Given the description of an element on the screen output the (x, y) to click on. 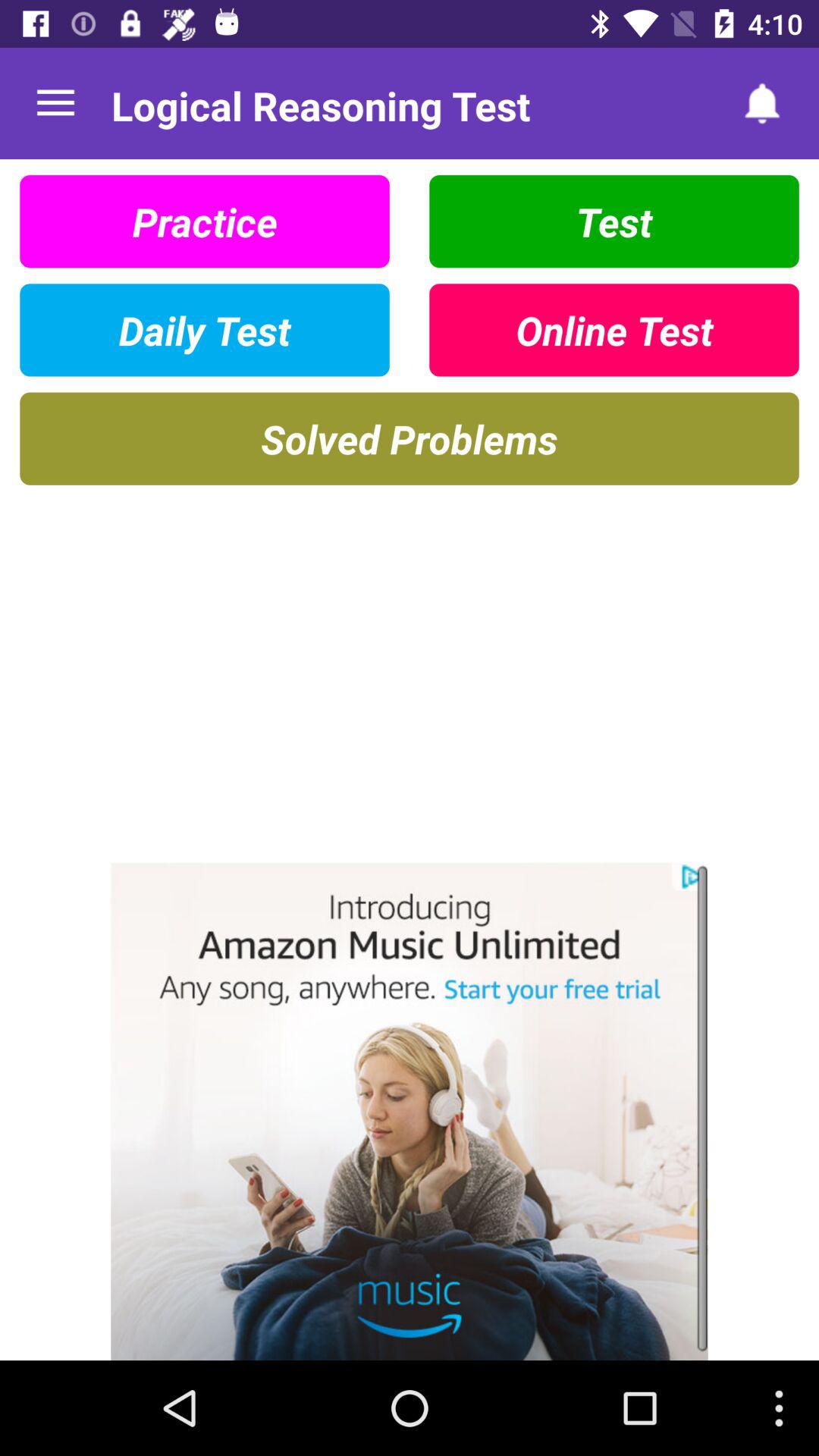
advertisement (409, 1111)
